Given the description of an element on the screen output the (x, y) to click on. 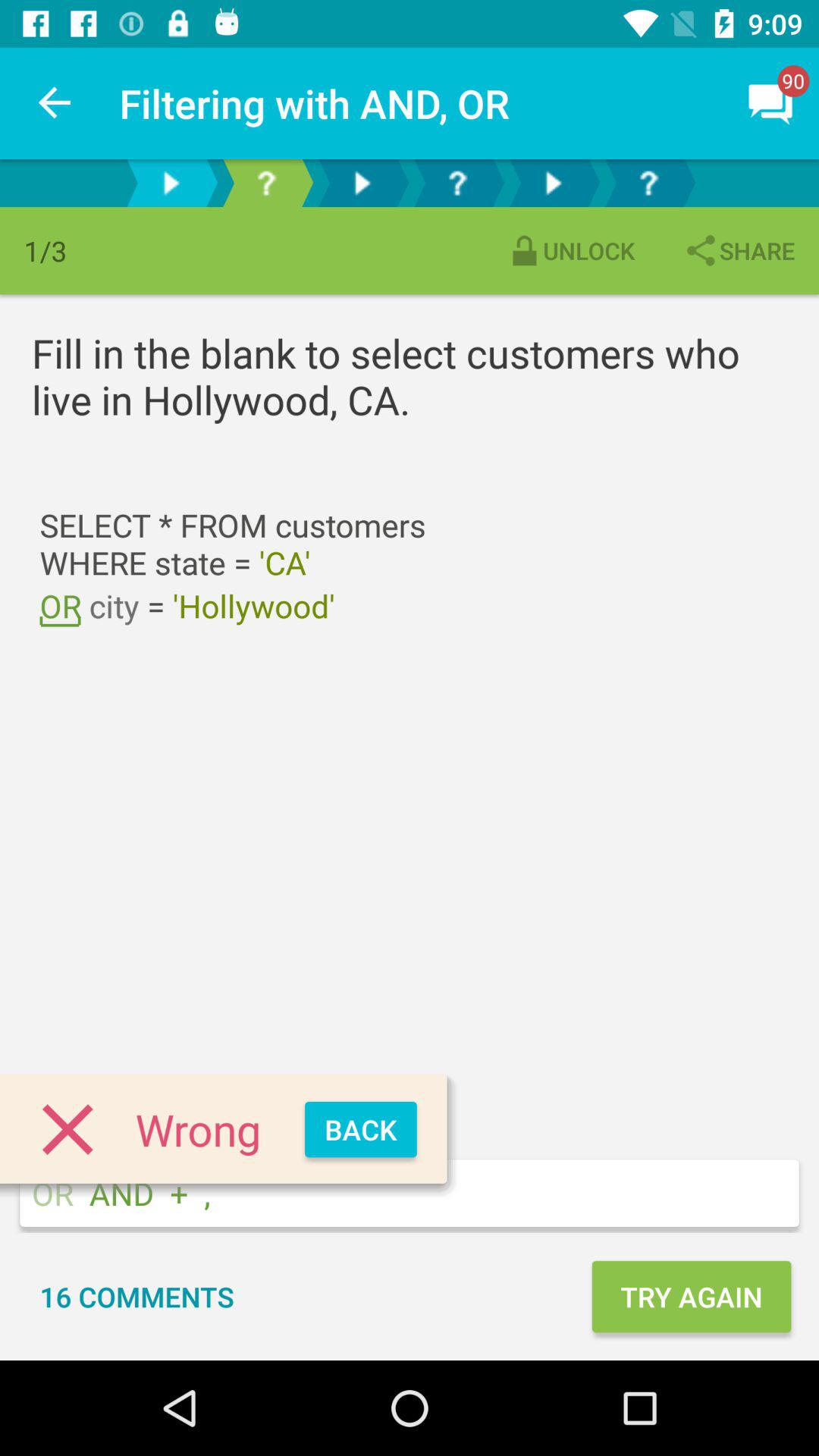
help (265, 183)
